Given the description of an element on the screen output the (x, y) to click on. 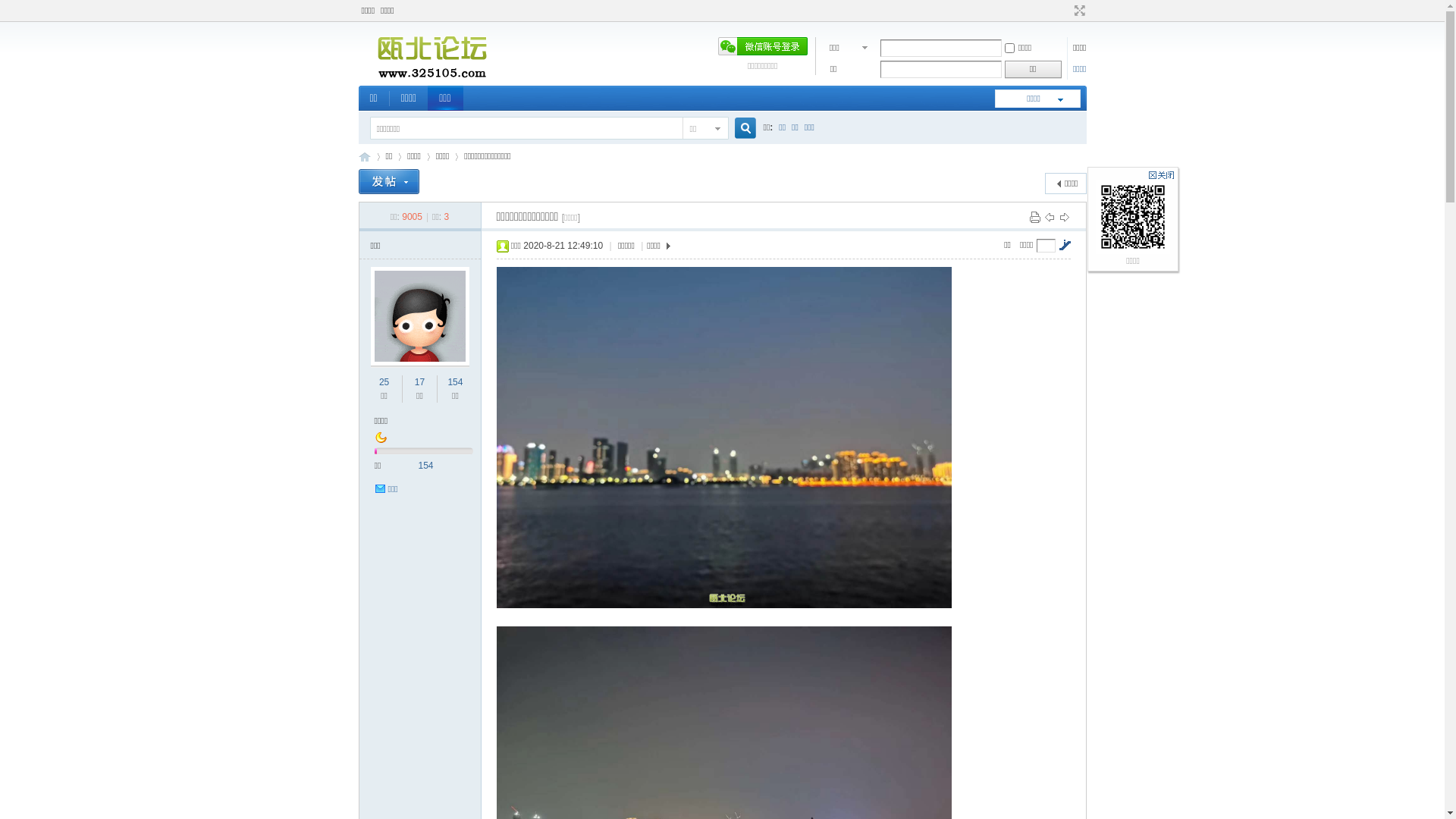
true Element type: text (738, 128)
154 Element type: text (425, 465)
154 Element type: text (454, 381)
25 Element type: text (384, 381)
17 Element type: text (419, 381)
